Given the description of an element on the screen output the (x, y) to click on. 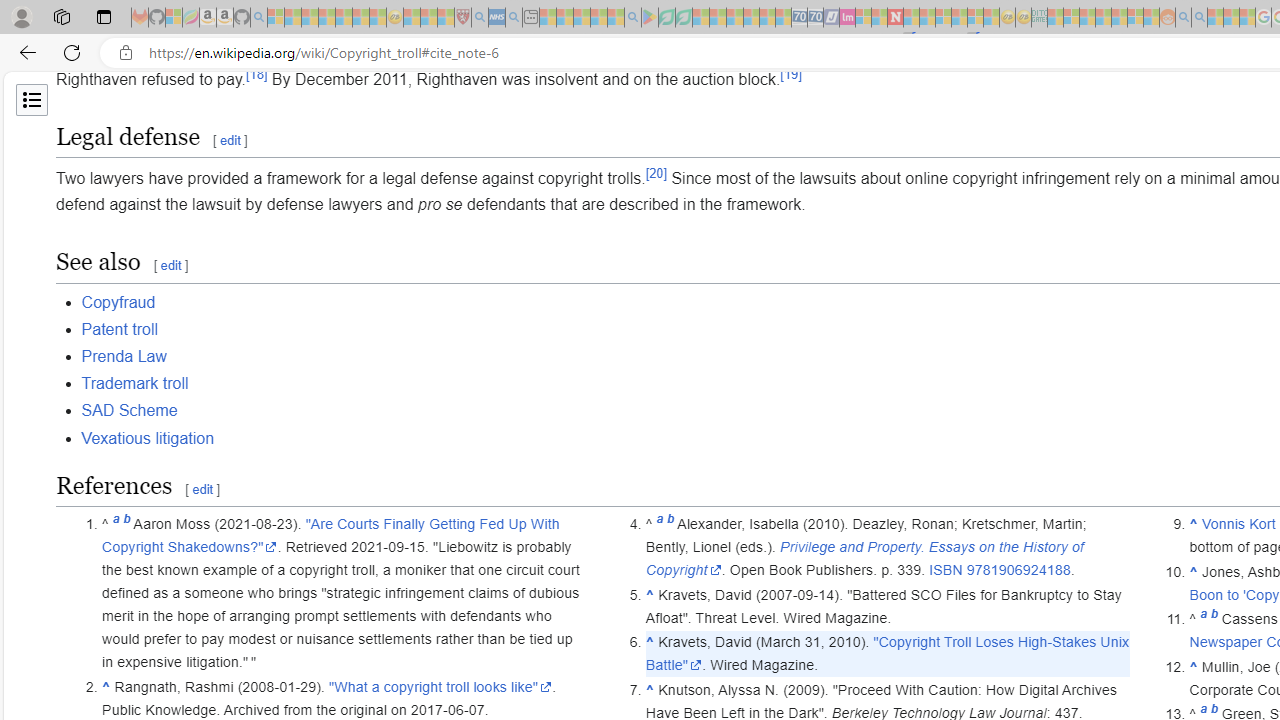
Privilege and Property. Essays on the History of Copyright (864, 558)
Prenda Law (123, 356)
utah sues federal government - Search - Sleeping (513, 17)
Jump up to: a (1203, 619)
b (1213, 619)
